Given the description of an element on the screen output the (x, y) to click on. 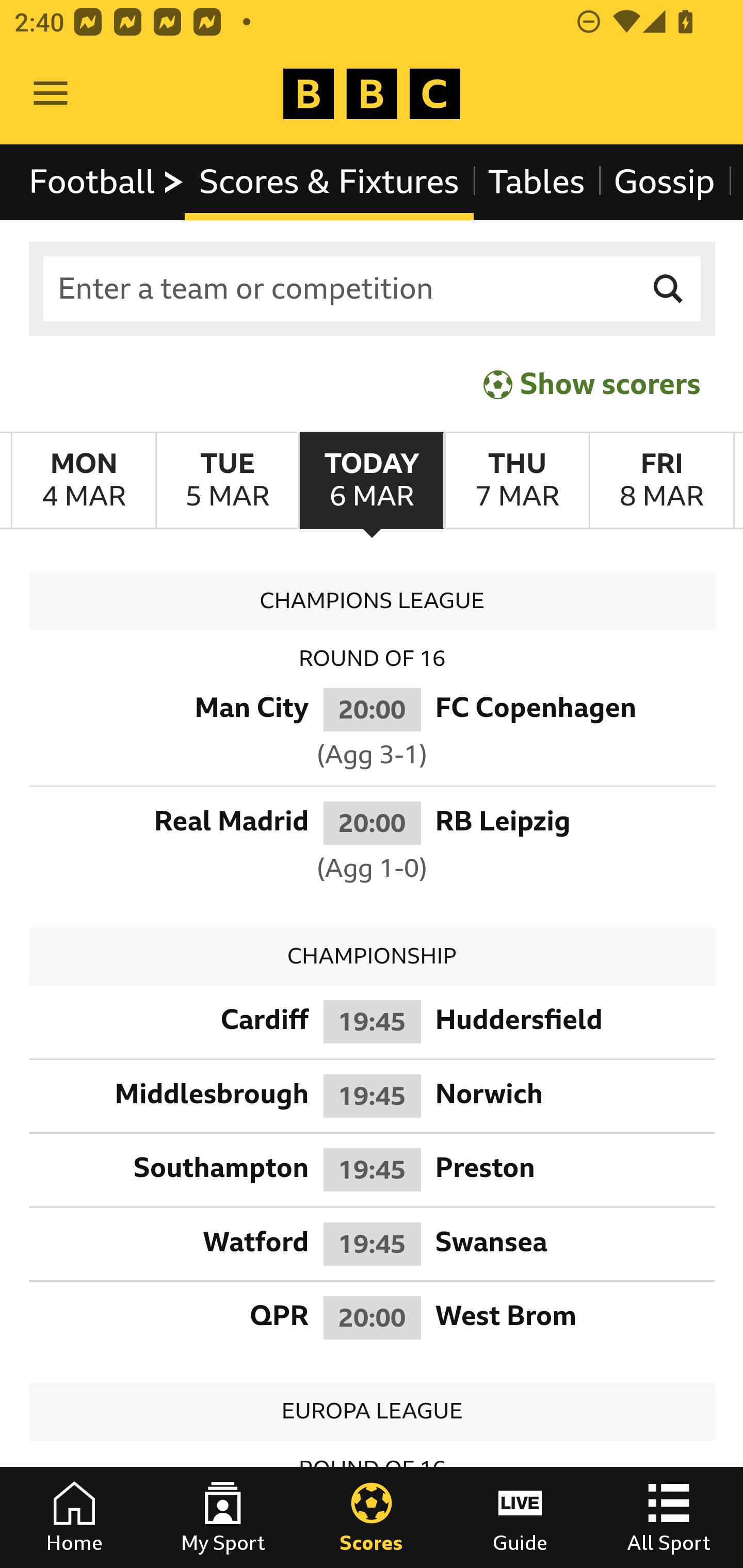
Open Menu (50, 93)
Football  (106, 181)
Scores & Fixtures (329, 181)
Tables (536, 181)
Gossip (664, 181)
Search (669, 289)
Show scorers (591, 383)
MondayMarch 4th Monday March 4th (83, 480)
TuesdayMarch 5th Tuesday March 5th (227, 480)
ThursdayMarch 7th Thursday March 7th (516, 480)
FridayMarch 8th Friday March 8th (661, 480)
Home (74, 1517)
My Sport (222, 1517)
Guide (519, 1517)
All Sport (668, 1517)
